Given the description of an element on the screen output the (x, y) to click on. 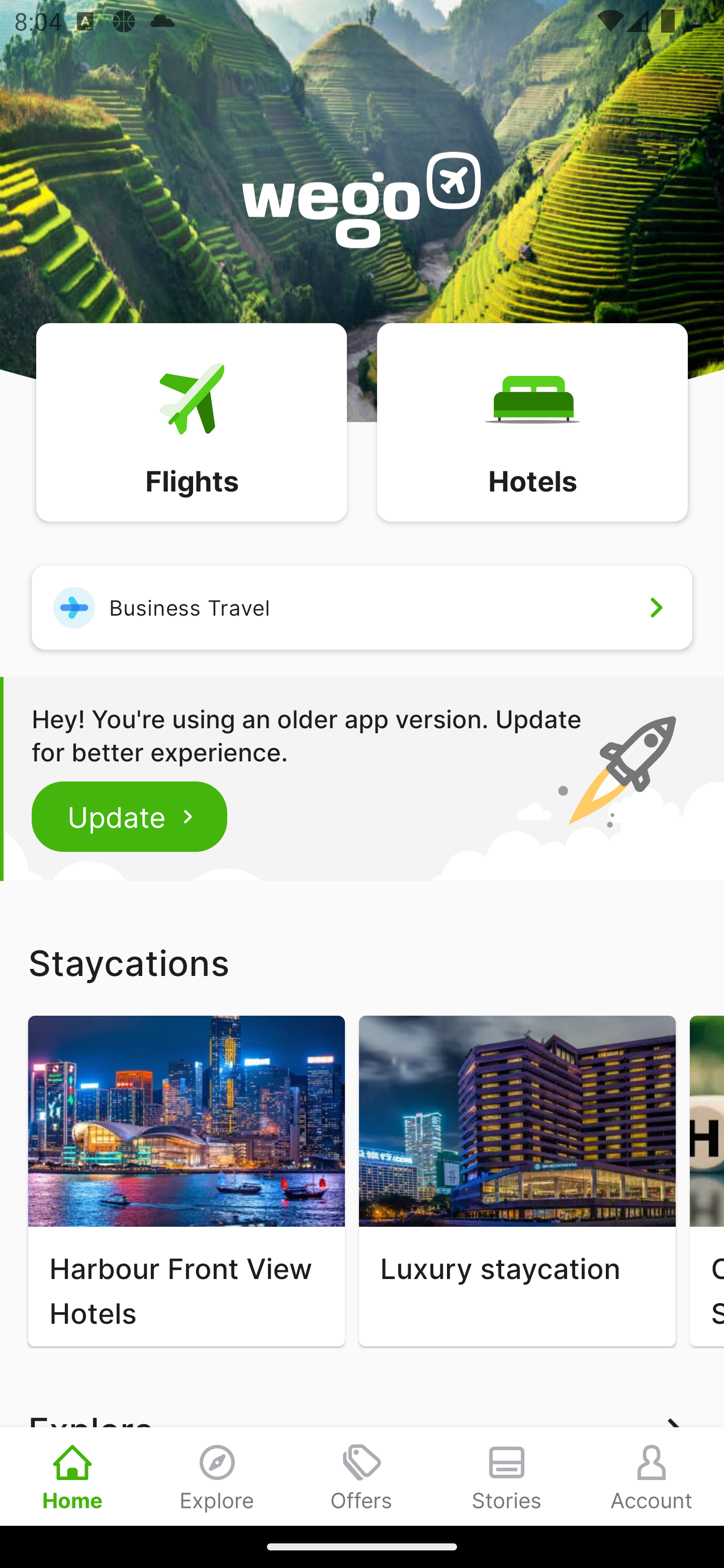
Flights (191, 420)
Hotels (532, 420)
Business Travel (361, 607)
Update (129, 815)
Staycations (362, 962)
Harbour Front View Hotels (186, 1181)
Luxury staycation (517, 1181)
Explore (216, 1475)
Offers (361, 1475)
Stories (506, 1475)
Account (651, 1475)
